Given the description of an element on the screen output the (x, y) to click on. 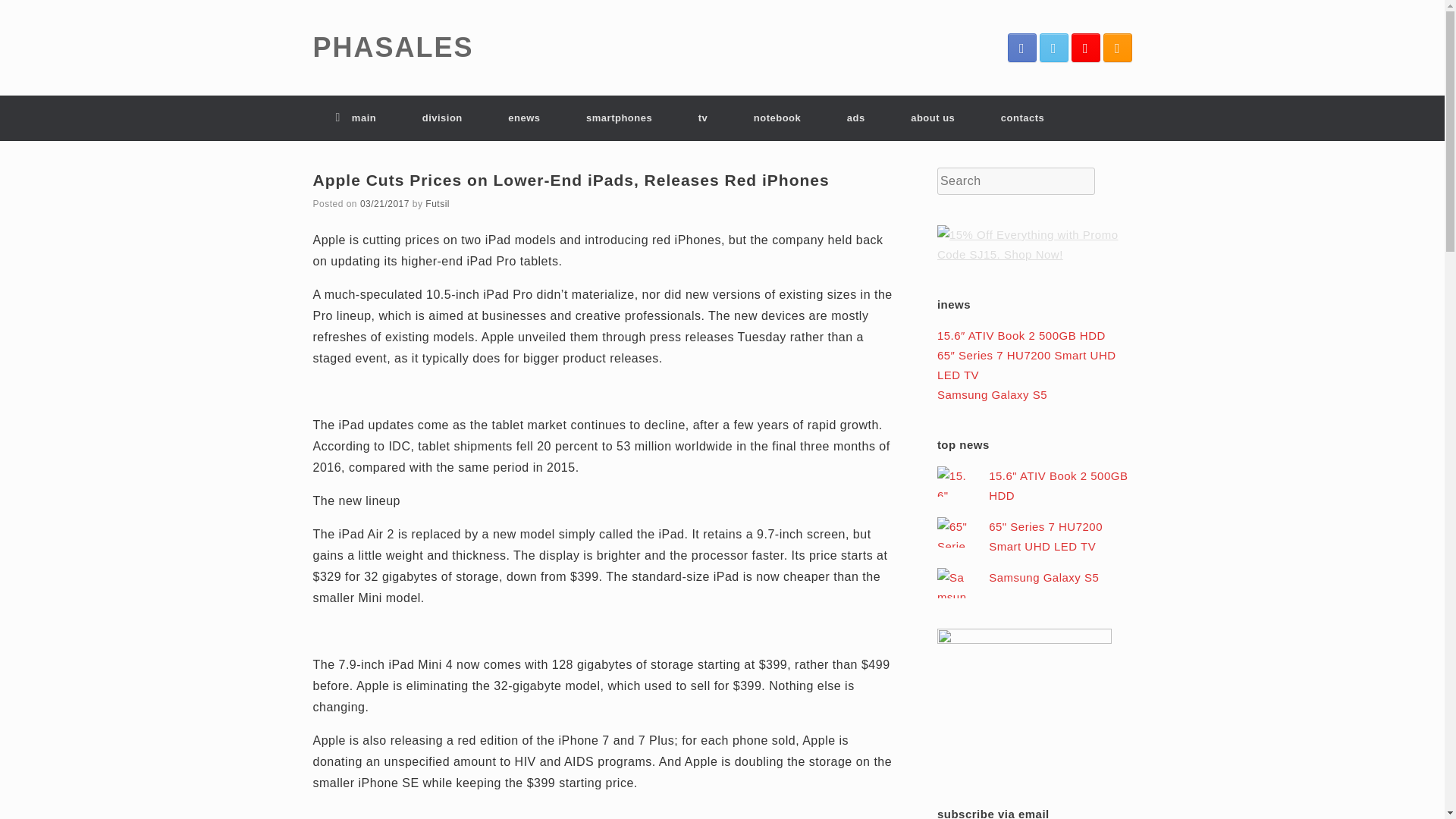
PHASALES Google Plus (1084, 47)
PHASALES (393, 47)
PHASALES RSS (1116, 47)
View all posts by Futsil (437, 204)
about us (932, 117)
ads (856, 117)
enews (523, 117)
11:45 pm (384, 204)
15.6" ATIV Book 2 500GB HDD (1057, 485)
